Given the description of an element on the screen output the (x, y) to click on. 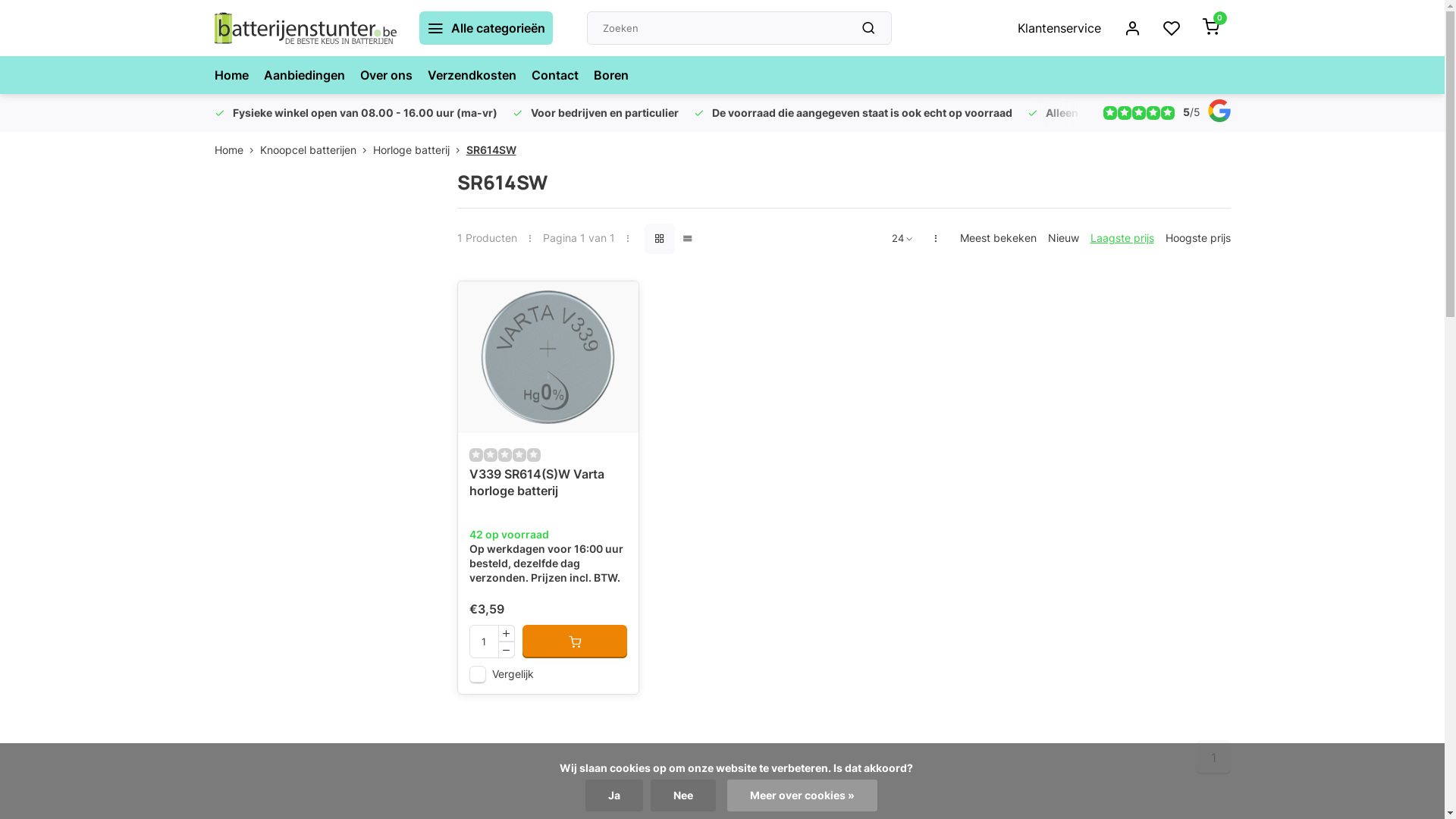
Klantenservice Element type: text (1058, 27)
Verzendkosten Element type: text (471, 75)
0 Element type: text (1210, 27)
Toevoegen aan winkelwagen Element type: hover (574, 641)
V339 SR614(S)W Varta horloge batterij Element type: text (548, 492)
V339 SR614(S)W Varta horloge batterij Element type: hover (548, 357)
1 Element type: text (1213, 757)
SR614SW Element type: text (490, 150)
Boren Element type: text (610, 75)
Home Element type: text (236, 150)
Over ons Element type: text (385, 75)
Knoopcel batterijen Element type: text (315, 150)
Contact Element type: text (553, 75)
Nee Element type: text (682, 795)
Aanbiedingen Element type: text (304, 75)
Horloge batterij Element type: text (419, 150)
Ja Element type: text (614, 795)
Home Element type: text (230, 75)
